Given the description of an element on the screen output the (x, y) to click on. 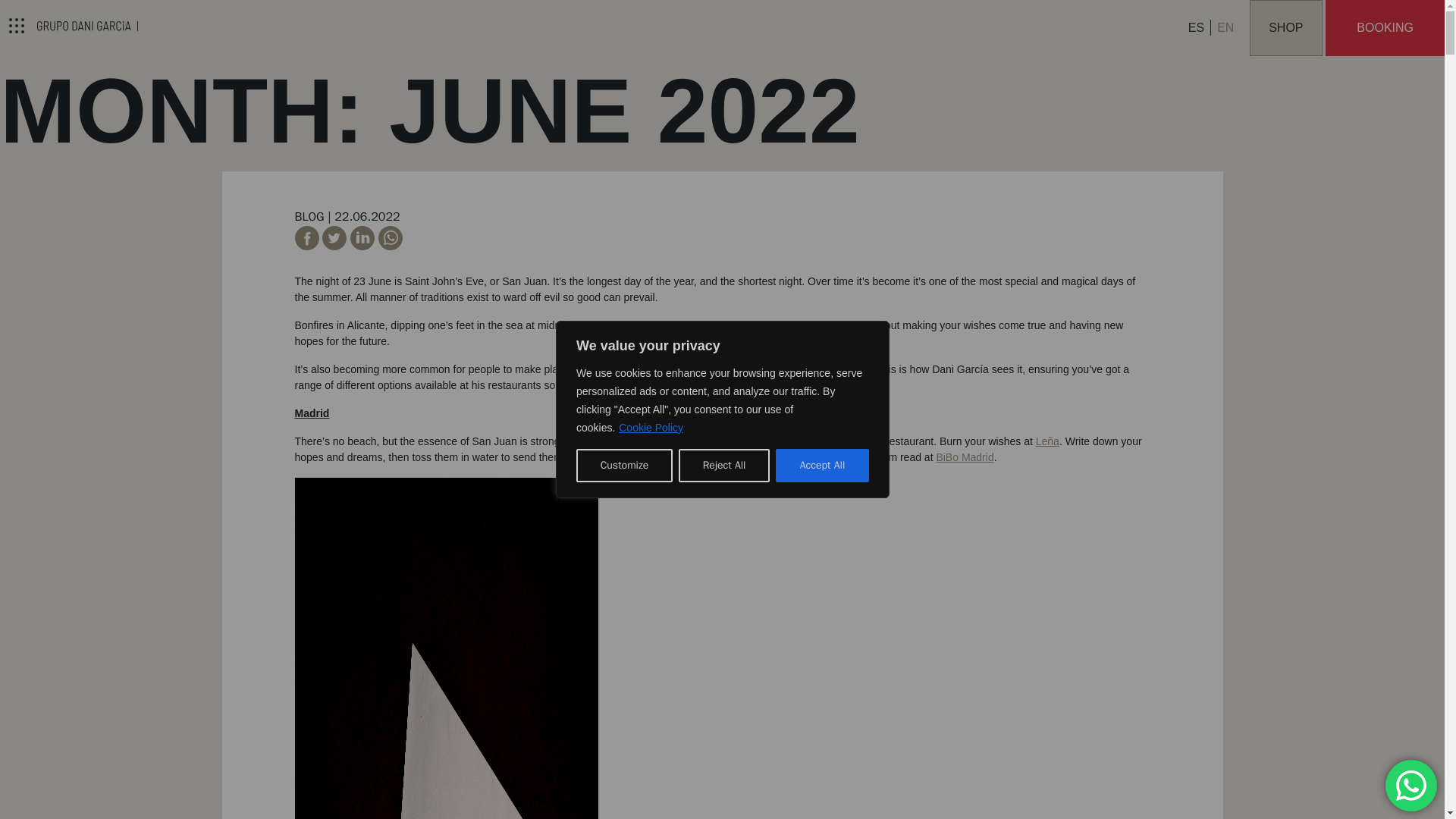
EN (1225, 27)
Compartir en Facebook (307, 246)
Reserva por WhatsApp (1411, 785)
Reject All (724, 465)
Compartir en WhatsApp (390, 246)
Customize (624, 465)
Compartir en Twitter (335, 246)
Compartir en Linkedin (364, 246)
SHOP (1285, 28)
Cookie Policy (650, 427)
ES (1195, 27)
Accept All (822, 465)
